Given the description of an element on the screen output the (x, y) to click on. 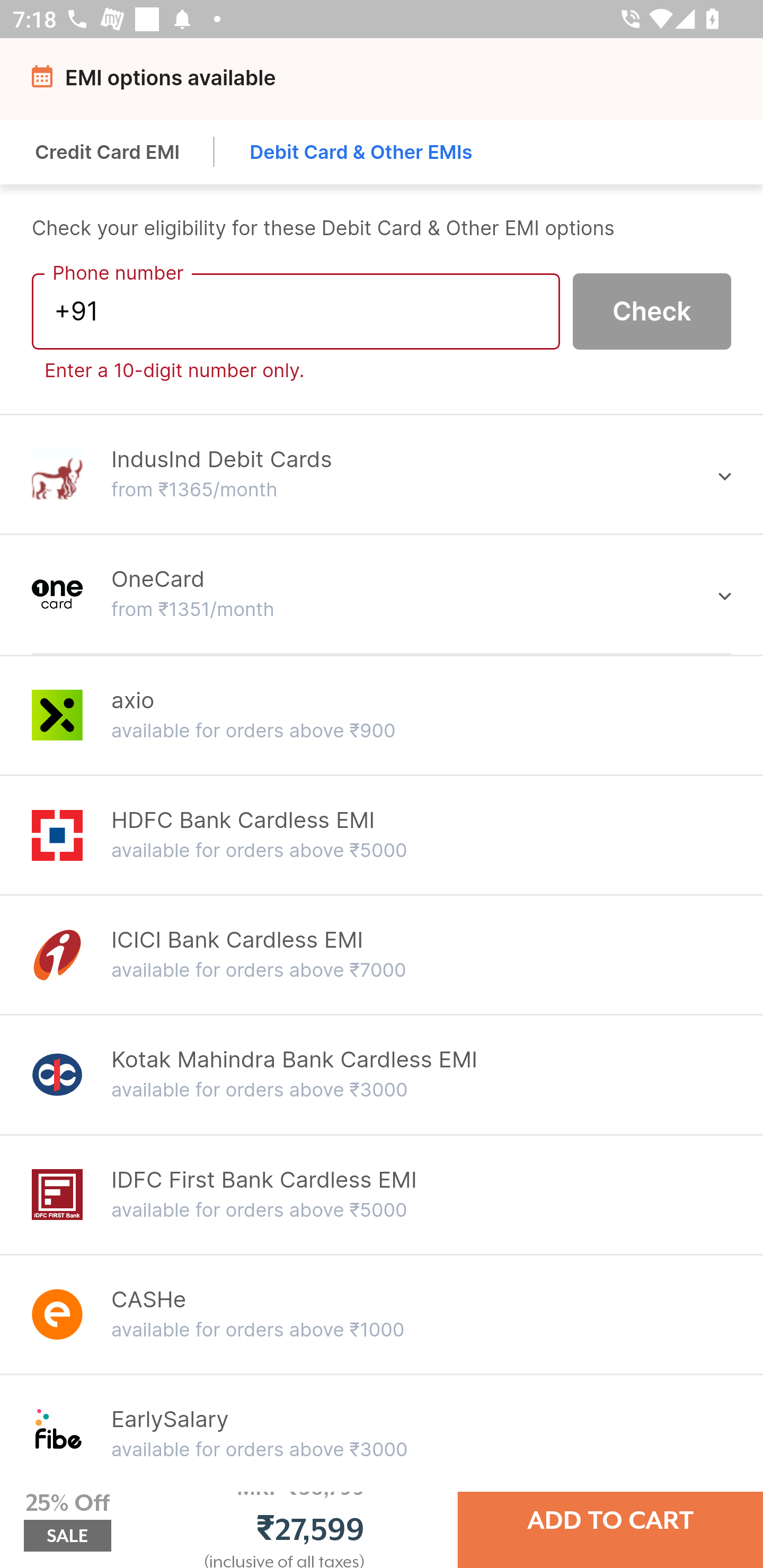
Navigate up (44, 82)
Credit Card EMI (107, 152)
Debit Card & Other EMIs (361, 152)
Check (651, 310)
OneCard OneCard from ₹1351/month (381, 593)
ADD TO CART (610, 1520)
